Given the description of an element on the screen output the (x, y) to click on. 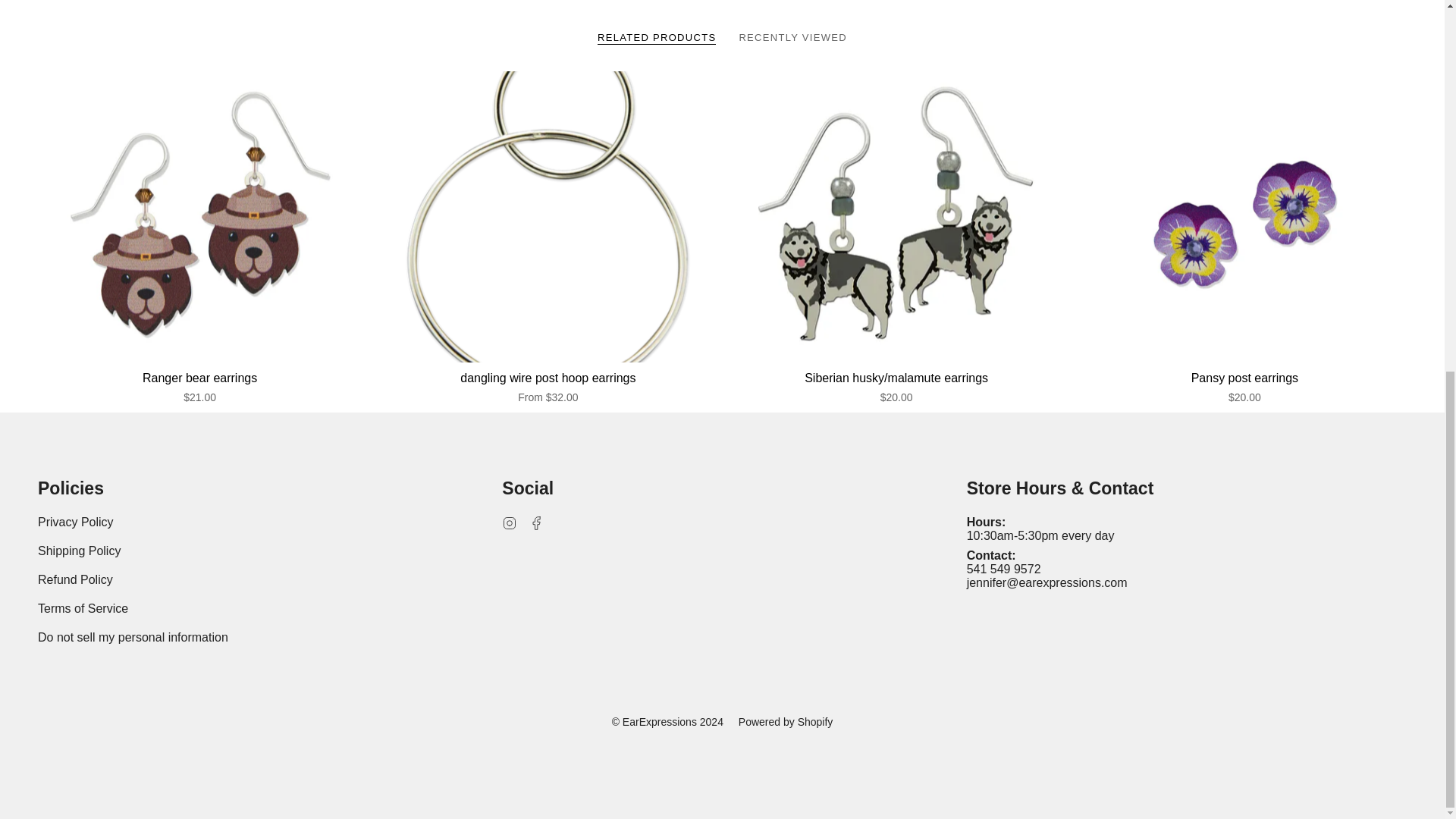
EarExpressions on Instagram (509, 521)
EarExpressions on Facebook (536, 521)
